Given the description of an element on the screen output the (x, y) to click on. 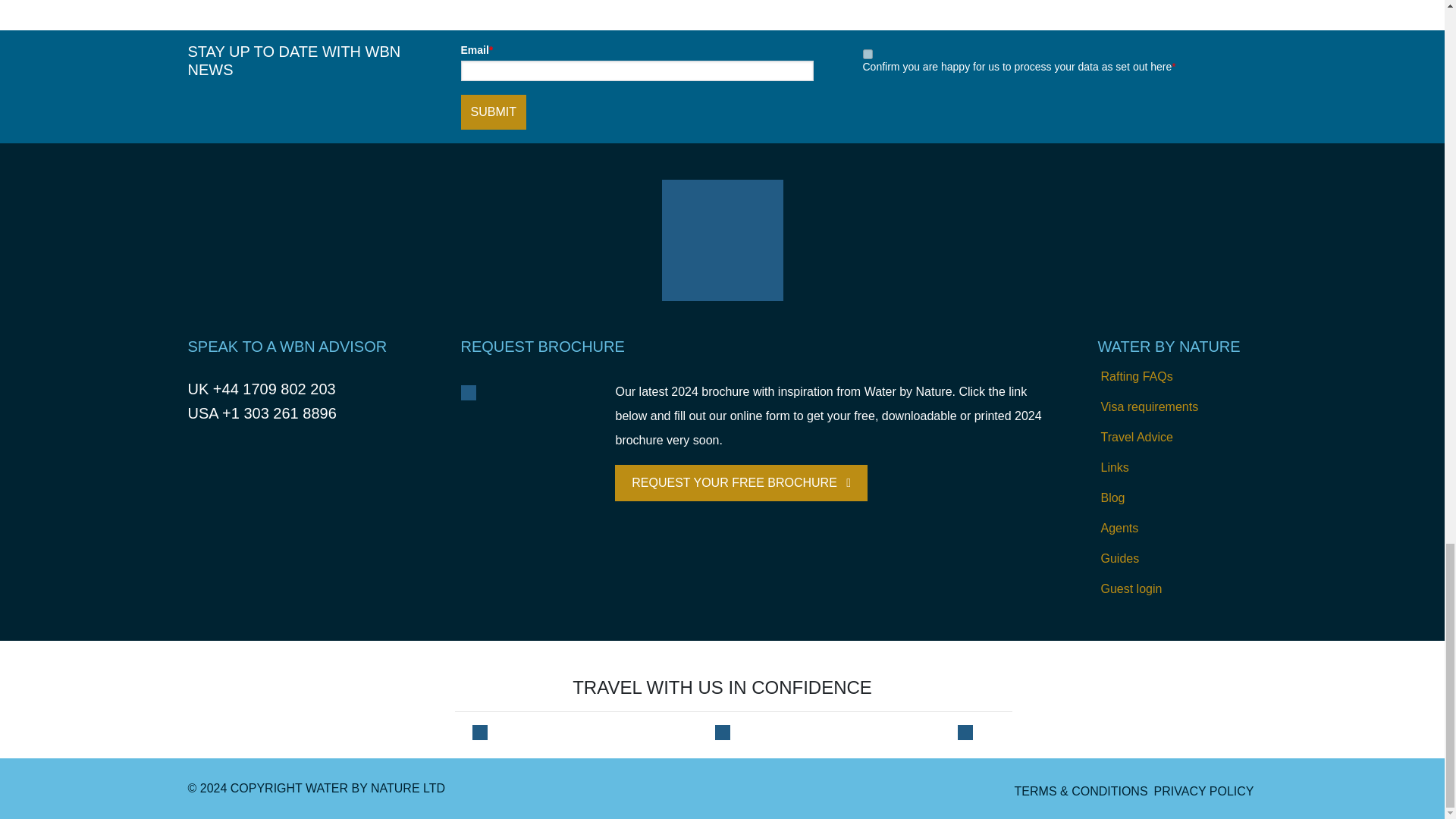
Guides (1176, 558)
Agents (1176, 528)
Visa requirements (1176, 407)
Guest login (1176, 589)
Travel Advice (1176, 437)
Links (1176, 467)
true (867, 53)
Privacy policy (1204, 791)
Rafting FAQs (1176, 376)
Blog (1176, 498)
